Given the description of an element on the screen output the (x, y) to click on. 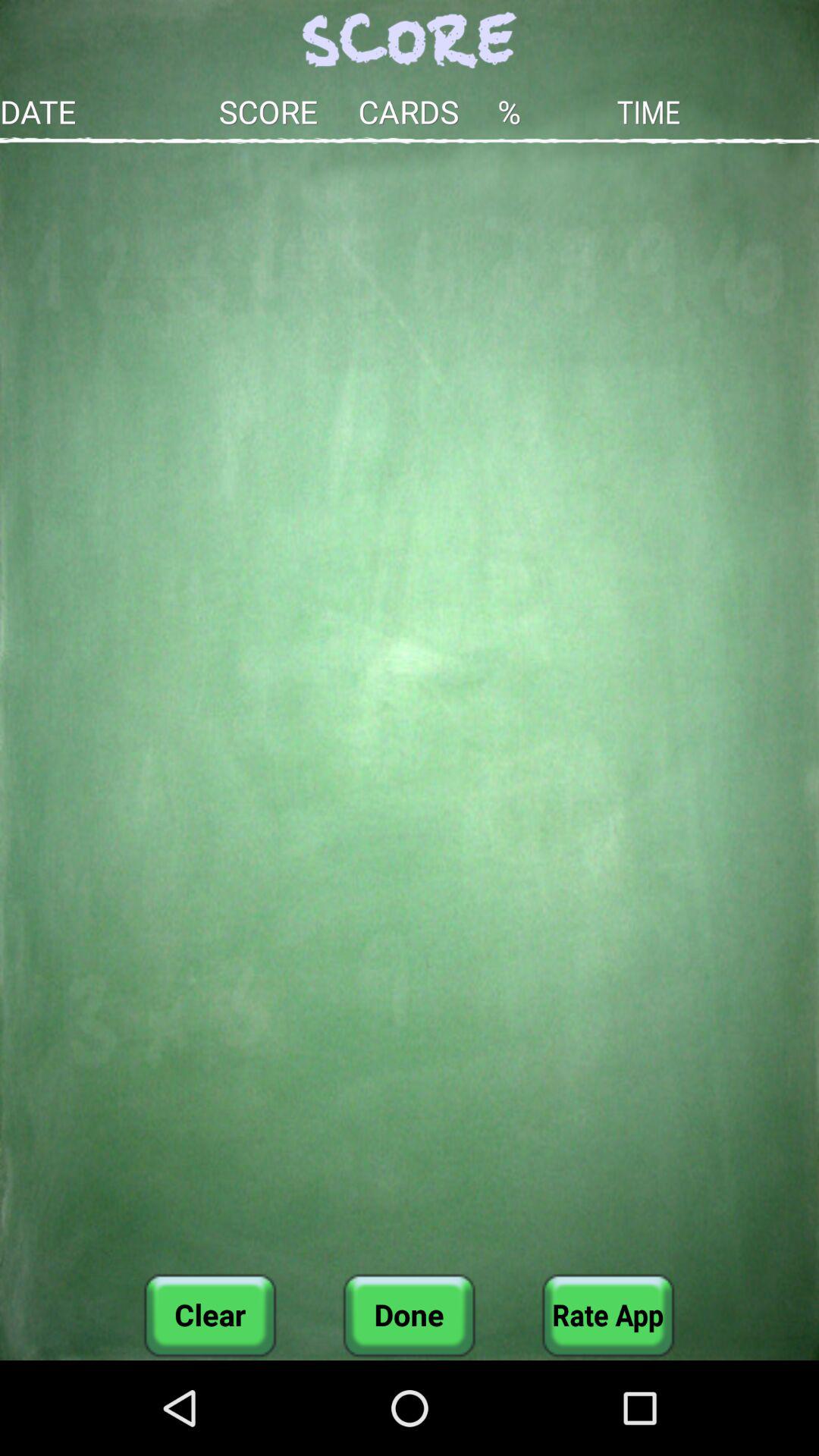
open icon next to the done button (607, 1315)
